Given the description of an element on the screen output the (x, y) to click on. 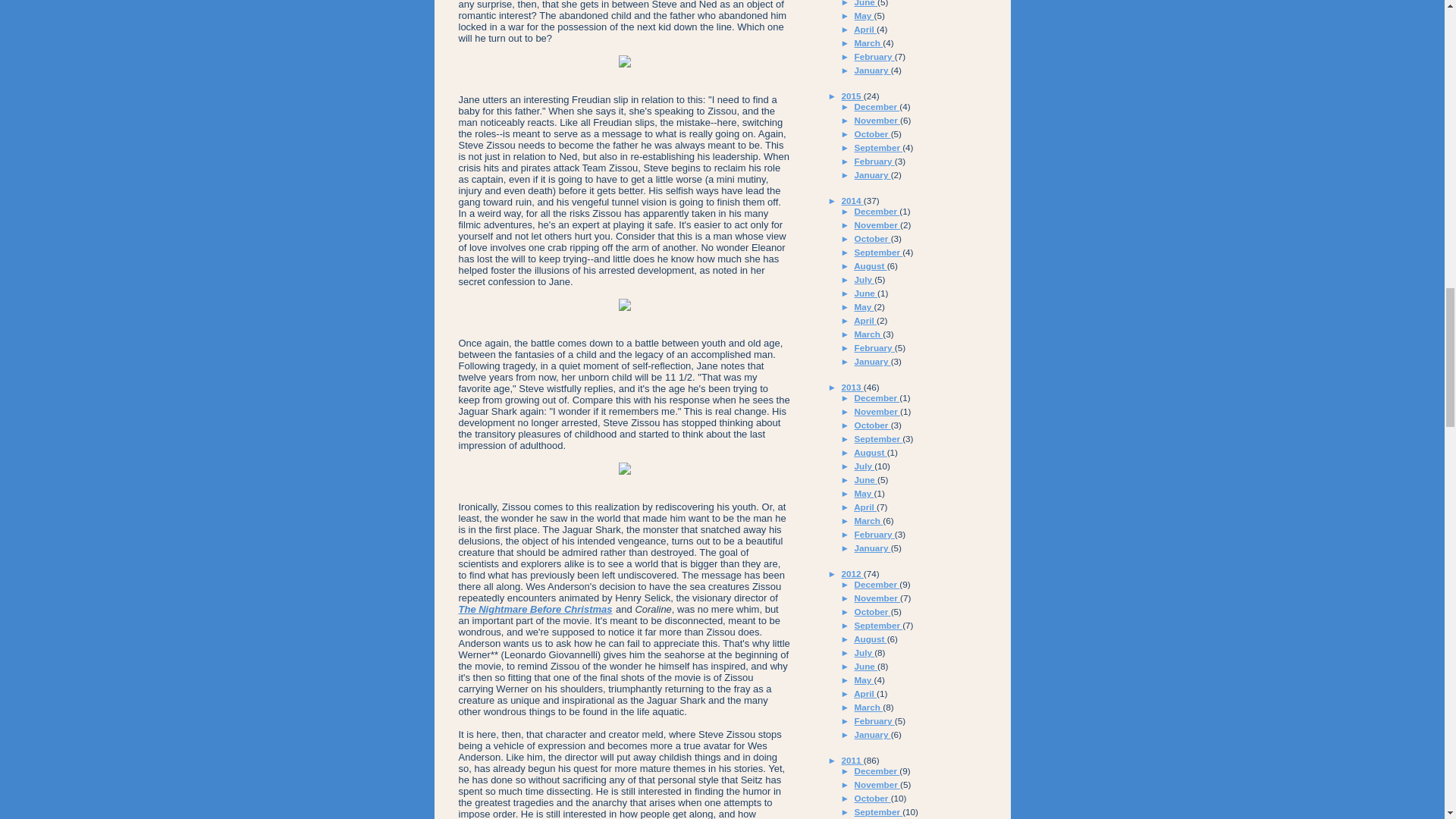
The Nightmare Before Christmas (534, 609)
